Given the description of an element on the screen output the (x, y) to click on. 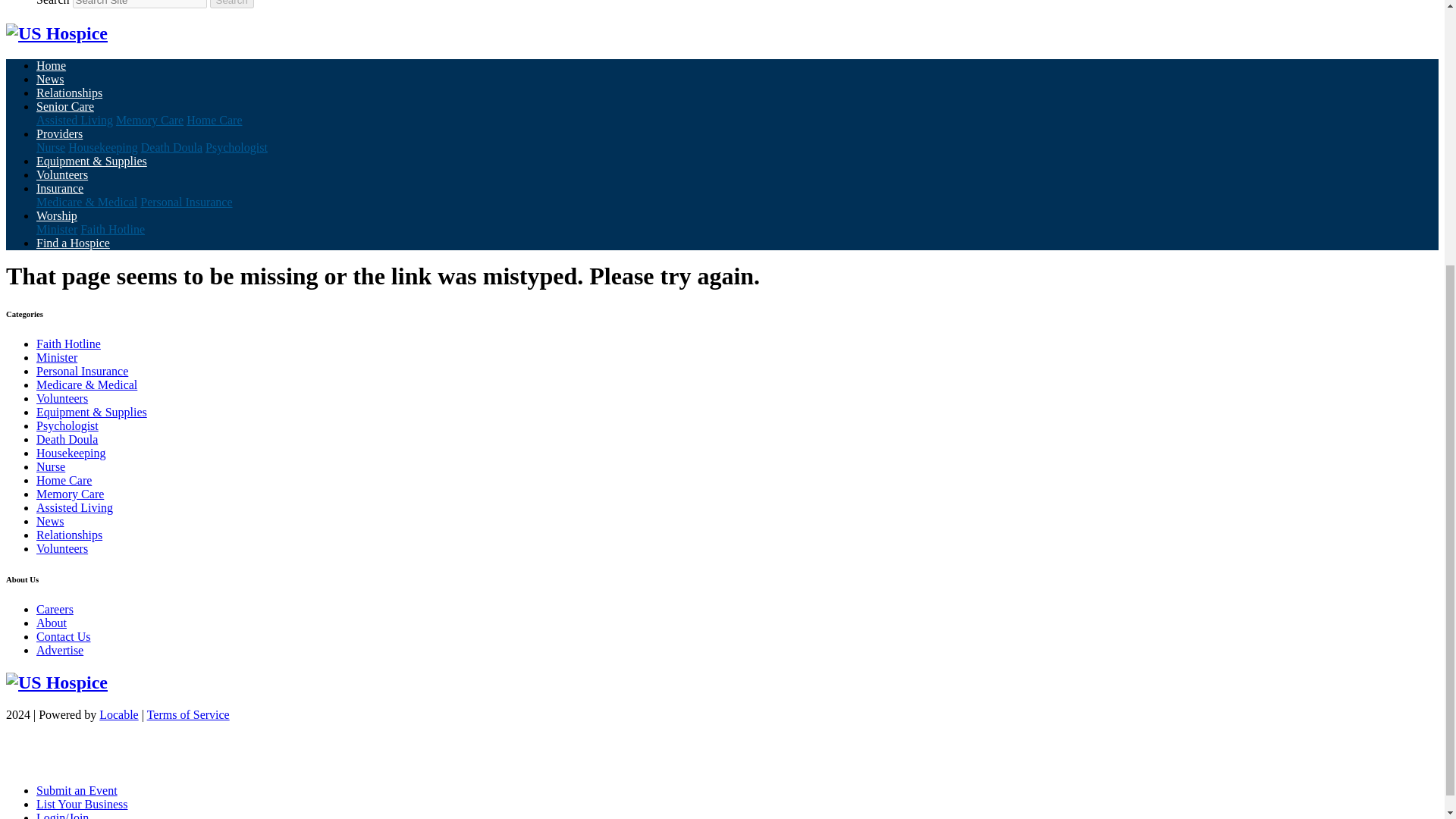
Home (50, 65)
Relationships (68, 92)
Search (231, 4)
Senior Care (65, 106)
News (50, 78)
